Given the description of an element on the screen output the (x, y) to click on. 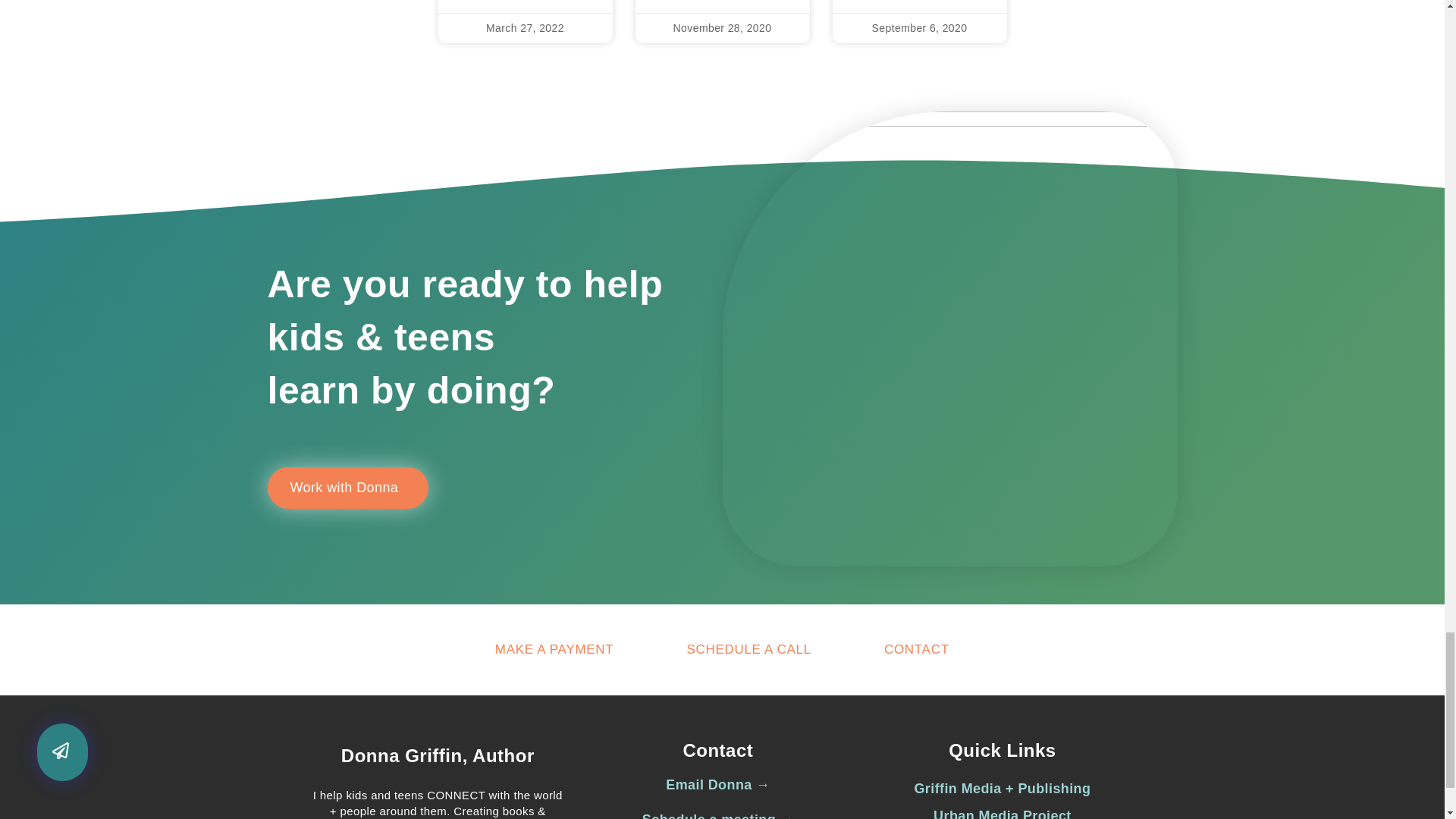
Urban Media Project (1002, 813)
Work with Donna (347, 487)
Quick Links (1003, 750)
CONTACT (916, 649)
Donna Griffin, Author (437, 755)
Contact (717, 750)
SCHEDULE A CALL (748, 649)
MAKE A PAYMENT (554, 649)
